Given the description of an element on the screen output the (x, y) to click on. 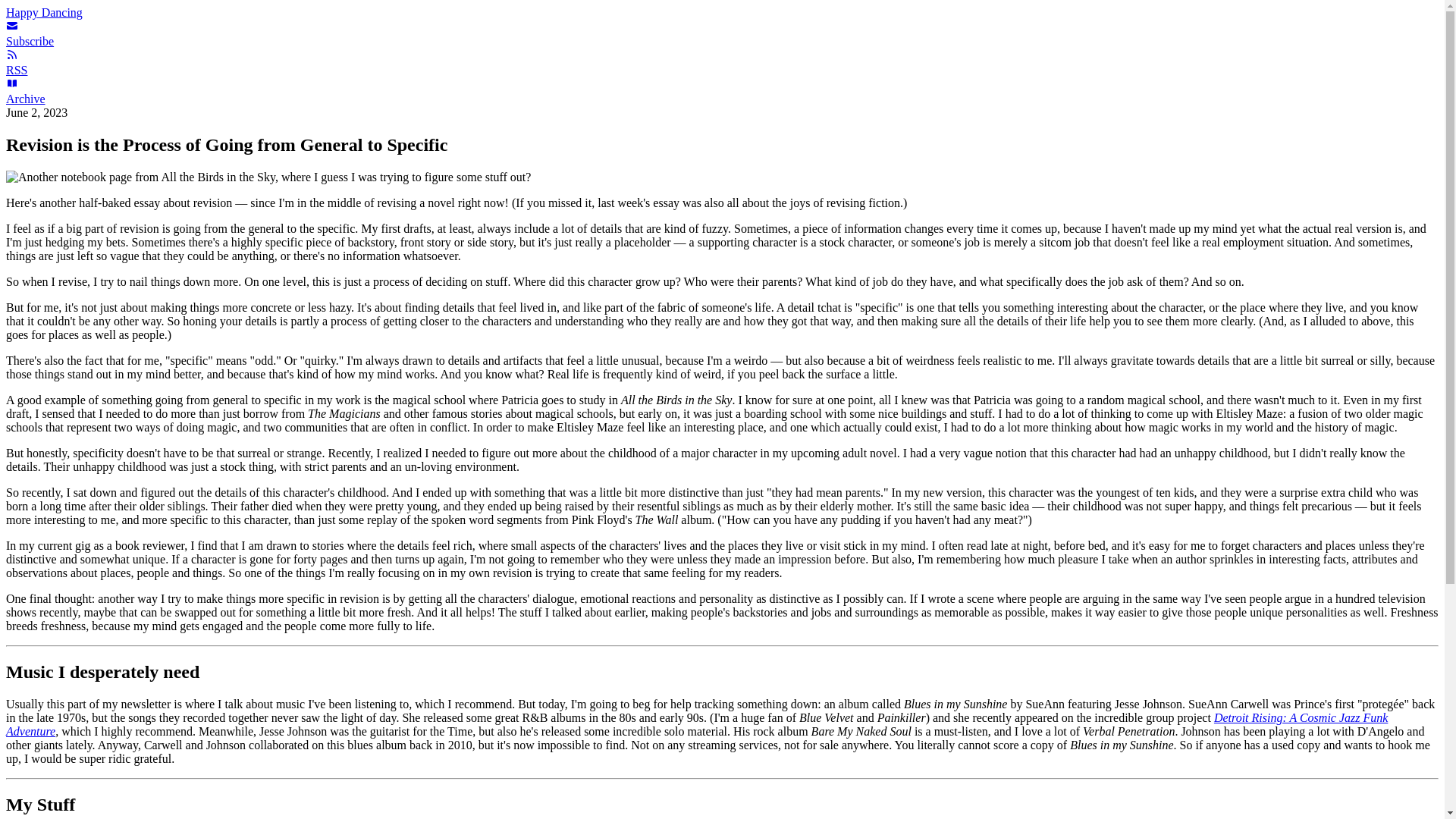
Detroit Rising: A Cosmic Jazz Funk Adventure (696, 724)
Happy Dancing (43, 11)
